Given the description of an element on the screen output the (x, y) to click on. 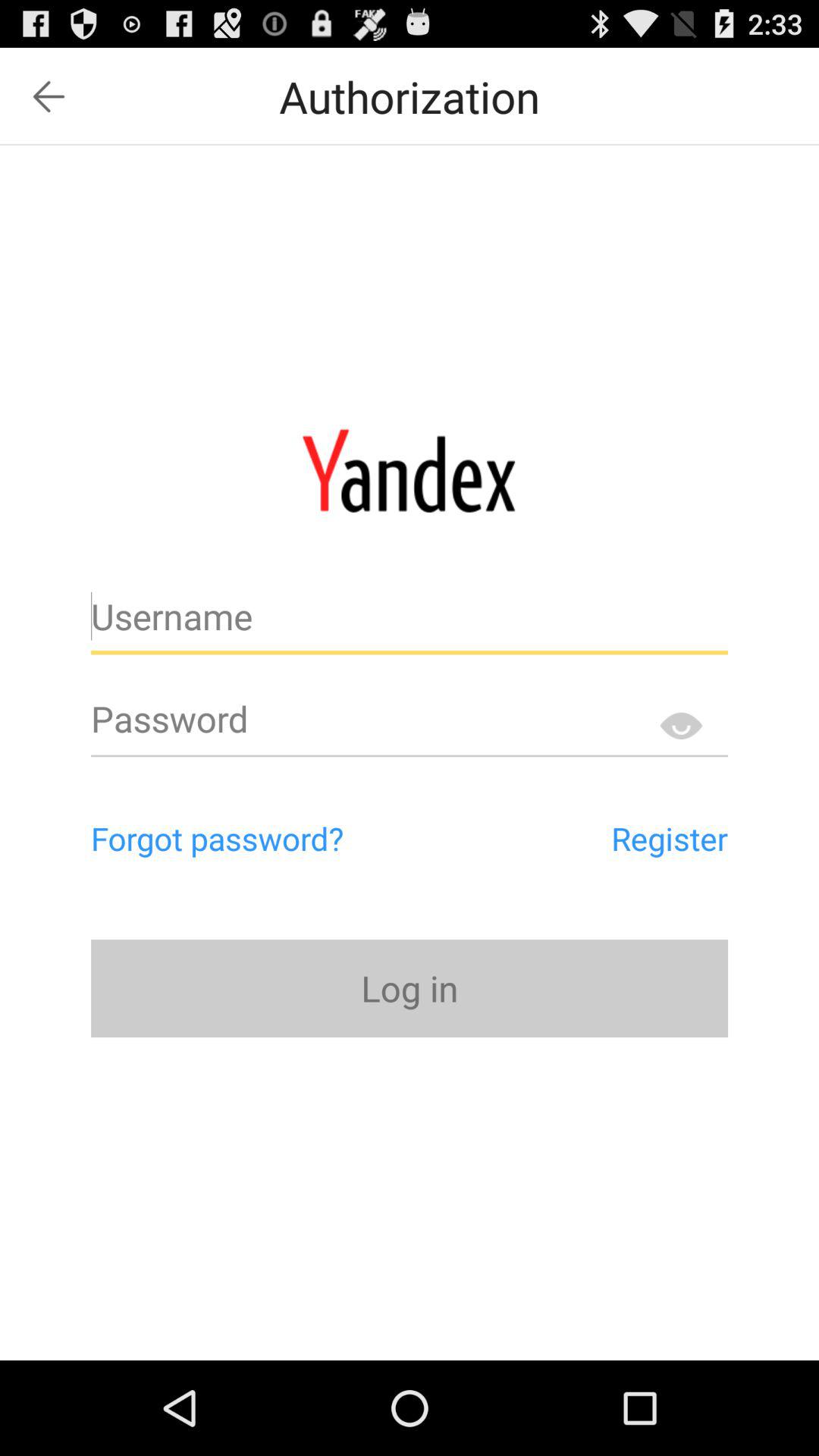
tap the icon at the top left corner (48, 96)
